Given the description of an element on the screen output the (x, y) to click on. 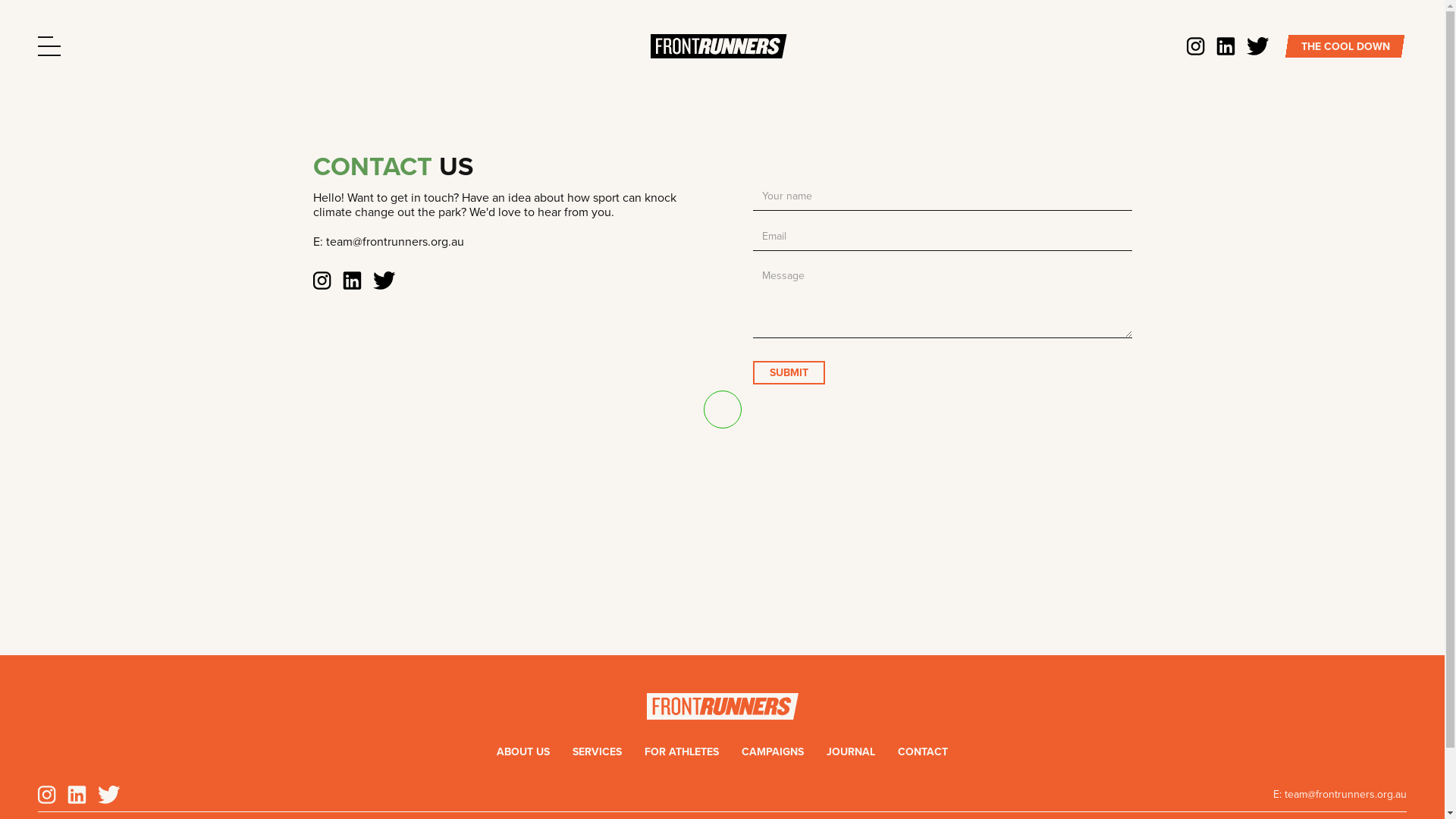
CONTACT Element type: text (922, 752)
E: team@frontrunners.org.au Element type: text (1339, 794)
JOURNAL Element type: text (850, 752)
ABOUT US Element type: text (522, 752)
THE COOL DOWN Element type: text (1345, 46)
CAMPAIGNS Element type: text (772, 752)
E: team@frontrunners.org.au Element type: text (501, 245)
FOR ATHLETES Element type: text (681, 752)
SERVICES Element type: text (596, 752)
Submit Element type: text (788, 372)
